Given the description of an element on the screen output the (x, y) to click on. 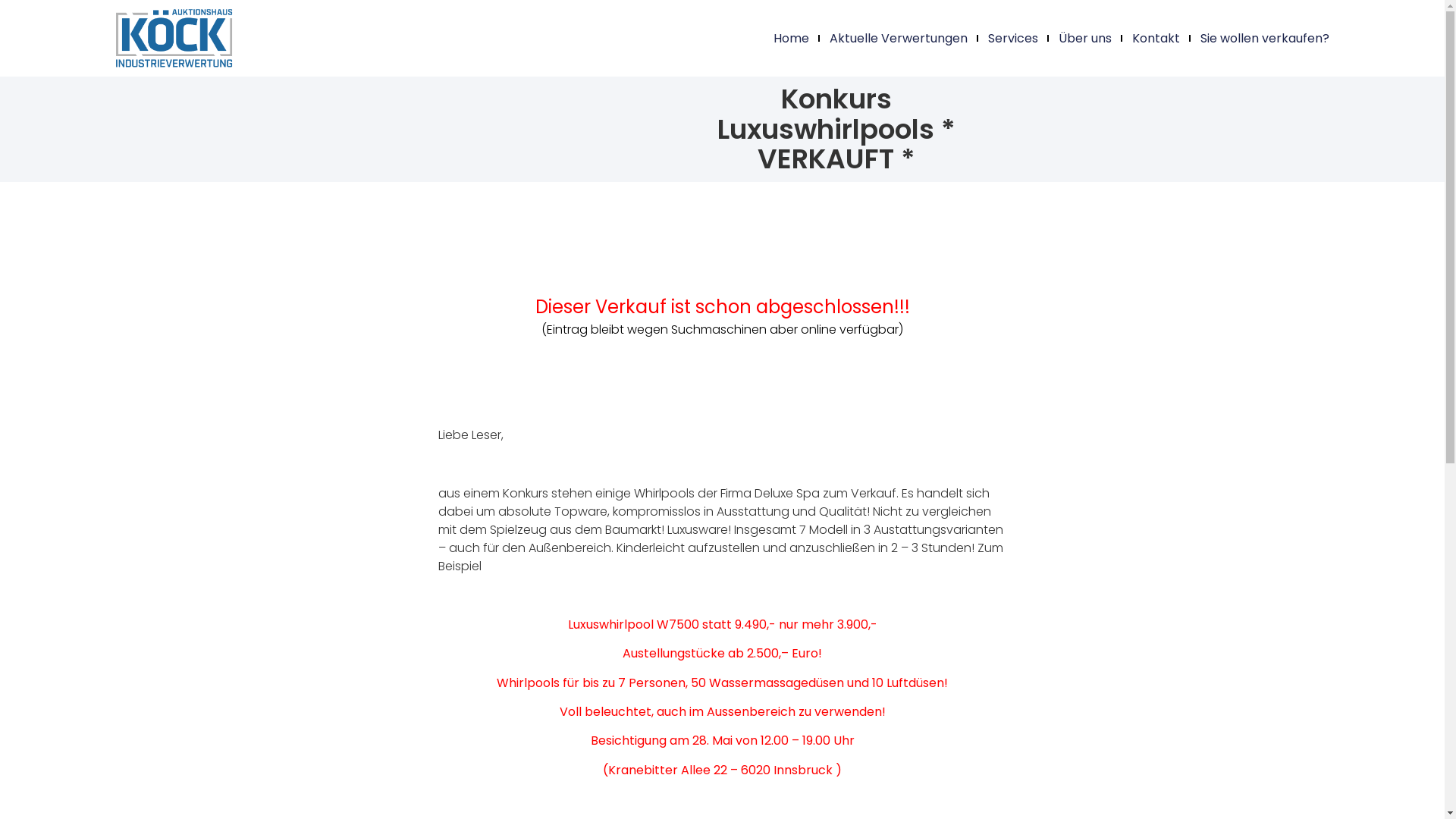
Aktuelle Verwertungen Element type: text (898, 38)
Sie wollen verkaufen? Element type: text (1264, 38)
Kontakt Element type: text (1155, 38)
Services Element type: text (1013, 38)
Home Element type: text (791, 38)
